Given the description of an element on the screen output the (x, y) to click on. 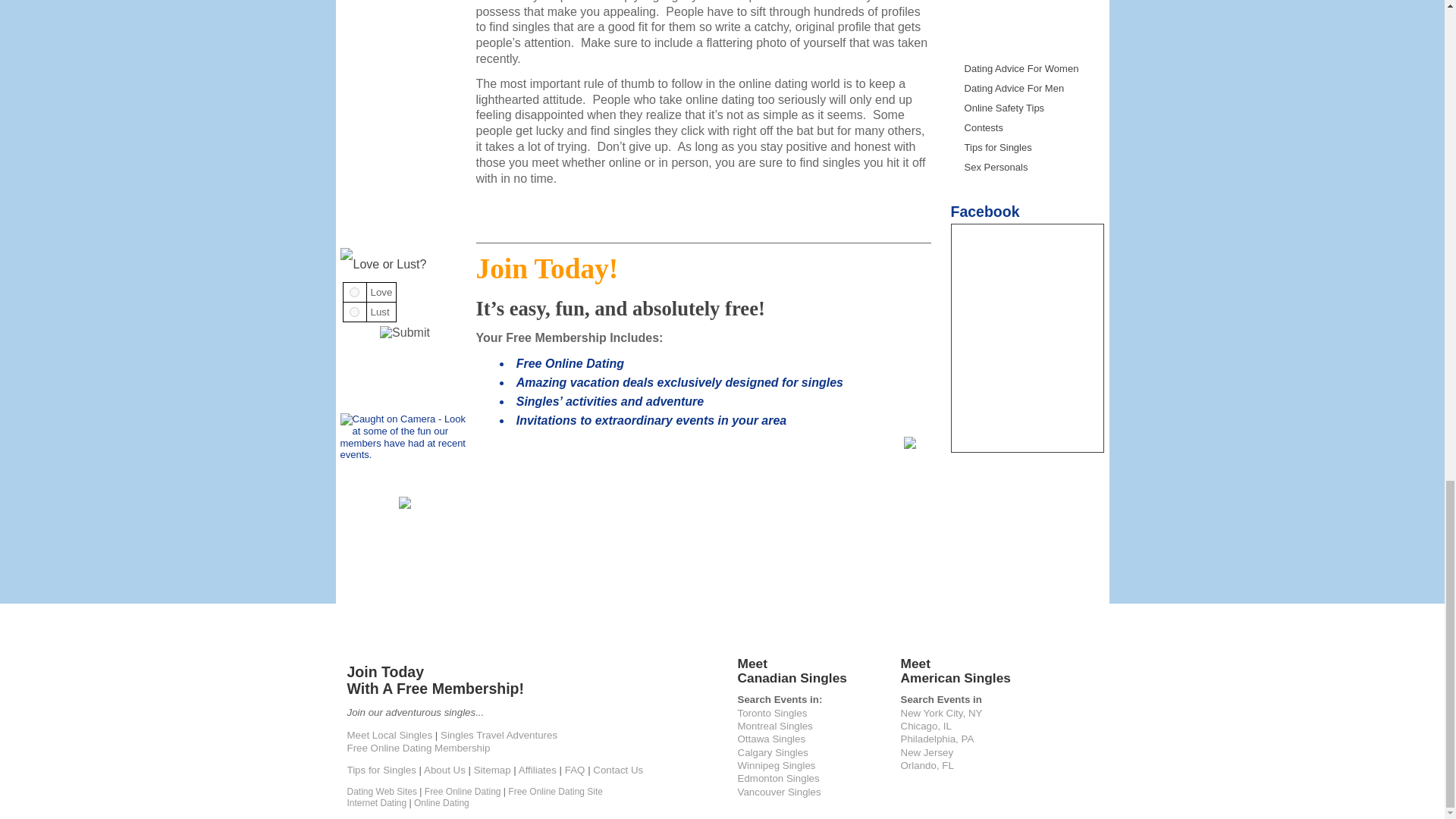
74 (354, 292)
Join Today! (909, 445)
75 (354, 311)
Submit (404, 332)
